Given the description of an element on the screen output the (x, y) to click on. 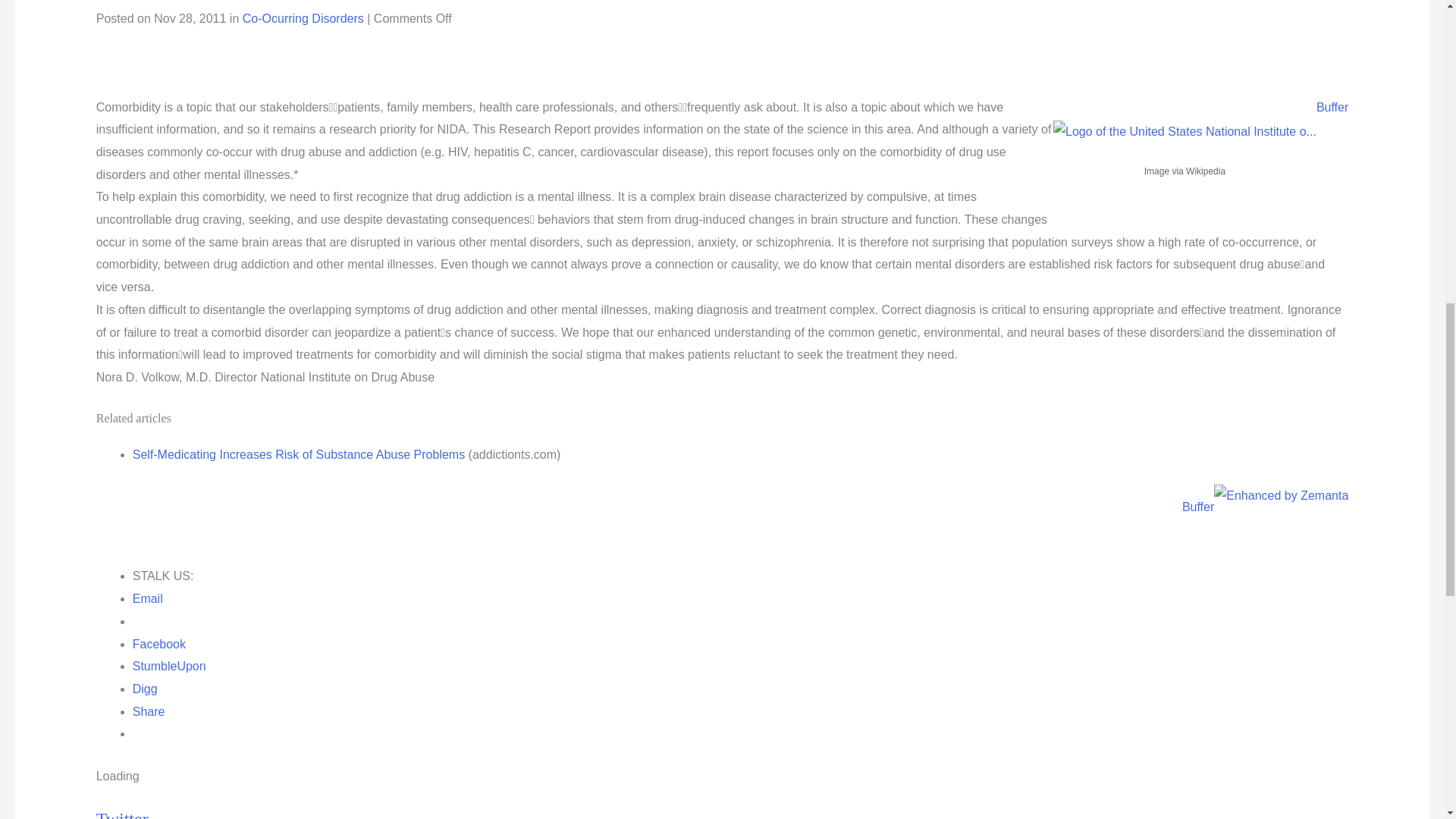
Share on Facebook (159, 644)
Co-Ocurring Disorders (303, 18)
Click to Digg this post (144, 688)
Click to email this to a friend (147, 598)
Click to share on StumbleUpon (169, 666)
View all posts in Co-Ocurring Disorders (303, 18)
Logo of the United States National Institute o... (1184, 131)
